Given the description of an element on the screen output the (x, y) to click on. 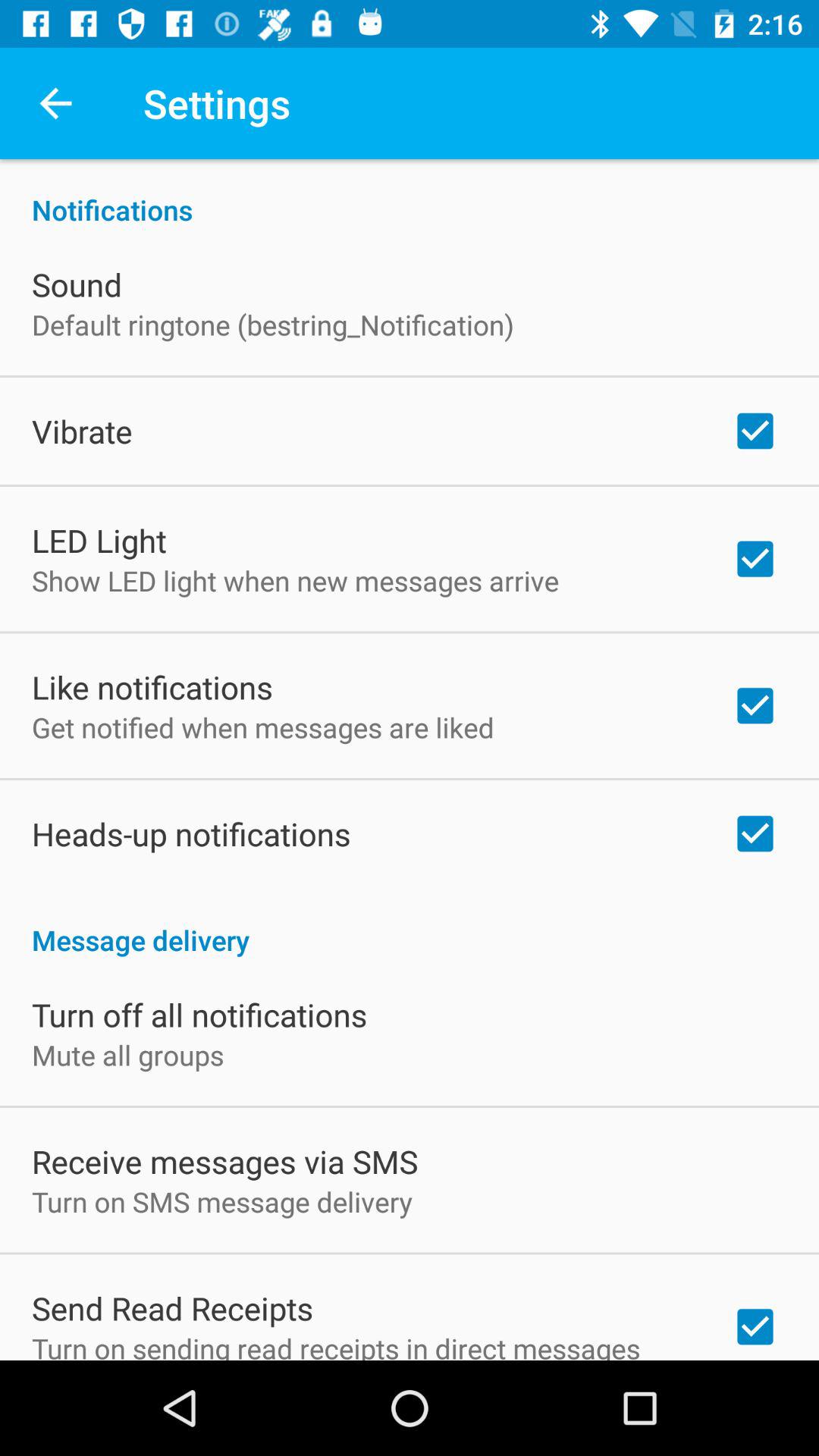
choose icon above default ringtone (bestring_notification) item (76, 283)
